Given the description of an element on the screen output the (x, y) to click on. 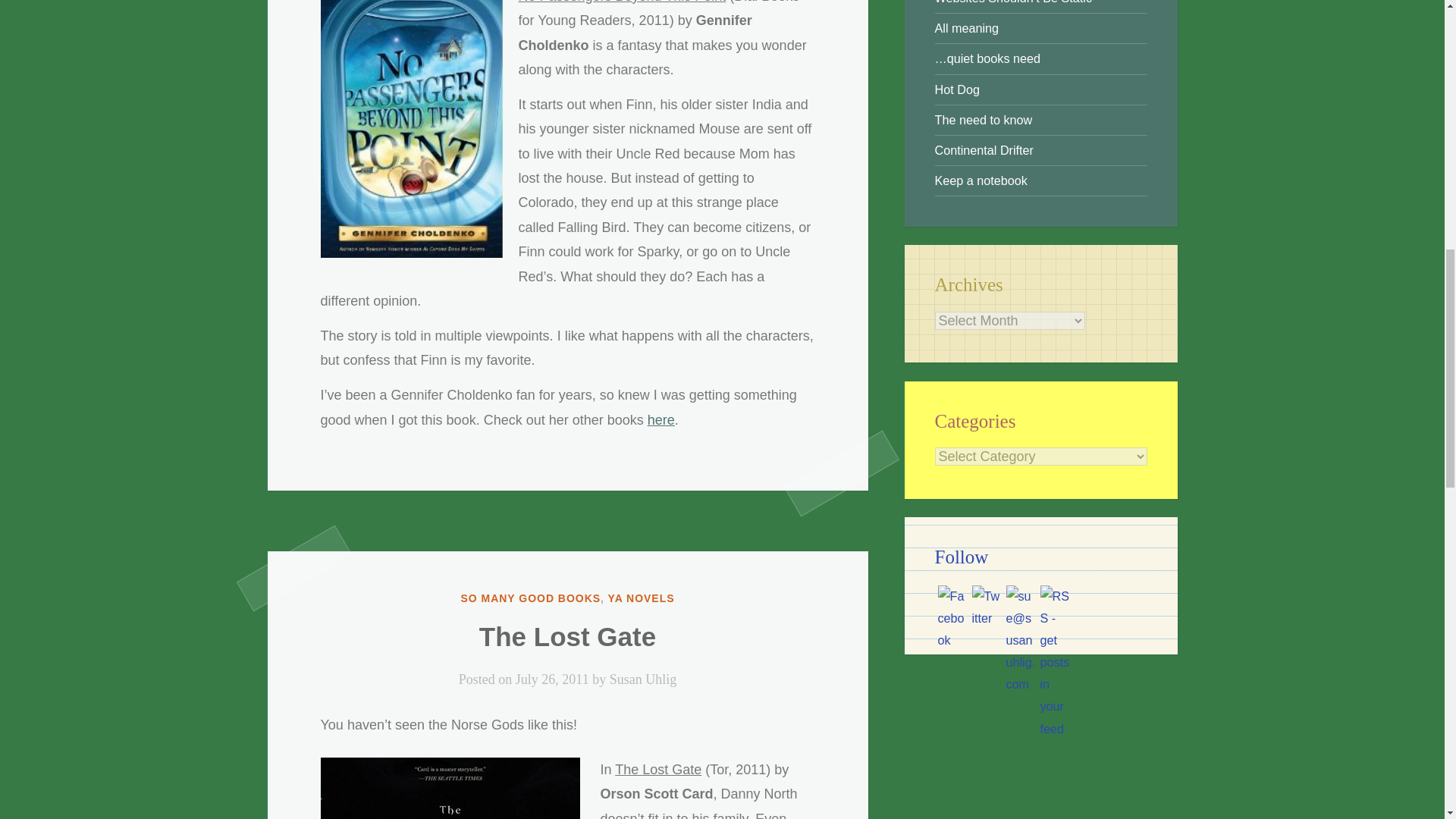
SO MANY GOOD BOOKS (529, 598)
All meaning (966, 28)
Susan Uhlig (643, 679)
July 26, 2011 (552, 679)
here (661, 419)
The need to know (983, 119)
Continental Drifter (983, 150)
YA NOVELS (641, 598)
Hot Dog (956, 89)
Keep a notebook (980, 180)
The Lost Gate (567, 636)
